Given the description of an element on the screen output the (x, y) to click on. 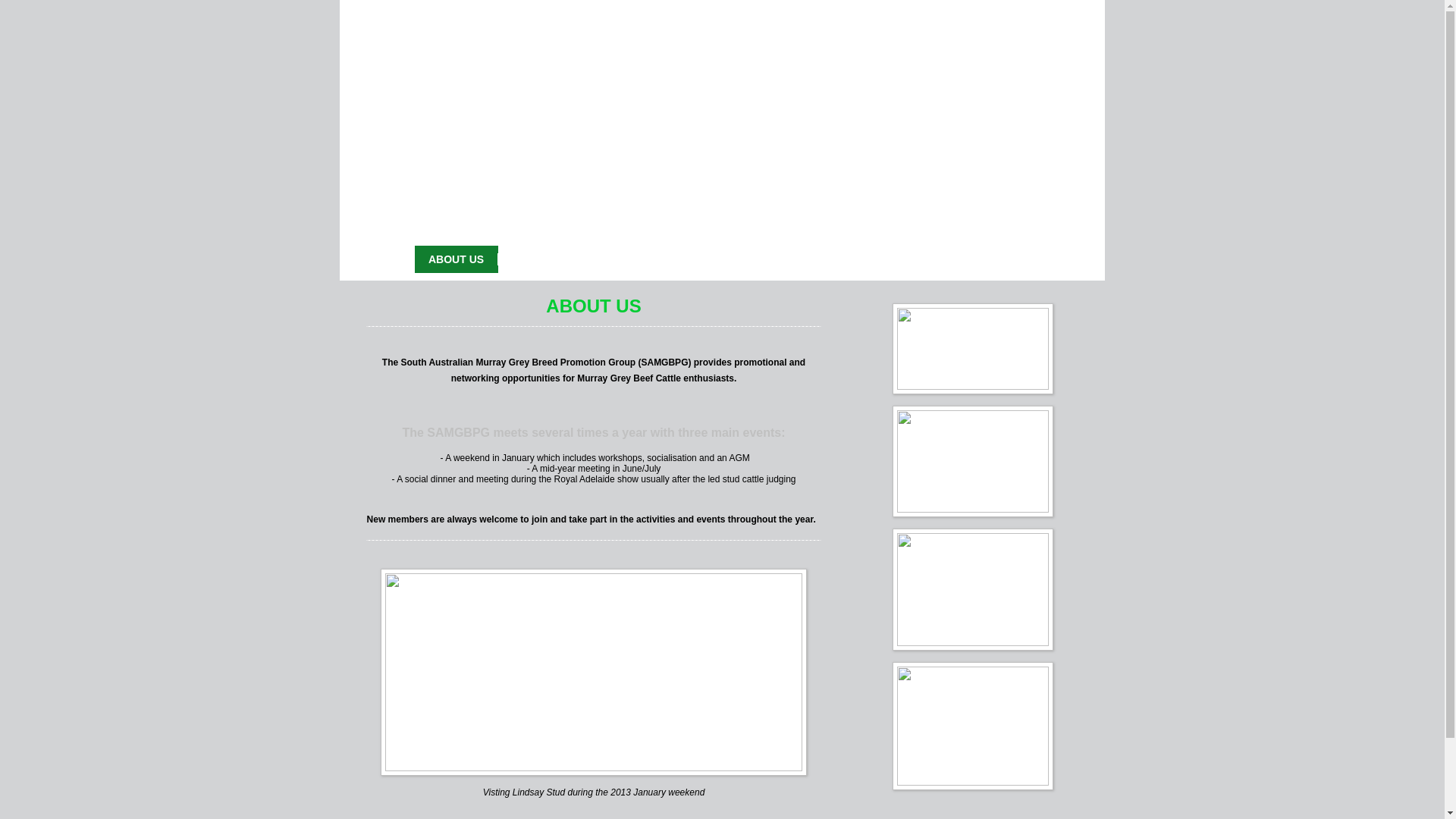
EVENTS Element type: text (539, 259)
SA MURRAY GREY BEEF Element type: text (925, 259)
MEMBER DIRECTORY Element type: text (645, 259)
CONTACT US Element type: text (1051, 259)
ABOUT US Element type: text (463, 259)
ANIMALS FOR SALE Element type: text (781, 259)
Breed promotion group members on tour January 2013 Element type: hover (593, 671)
HOME Element type: text (391, 259)
